Given the description of an element on the screen output the (x, y) to click on. 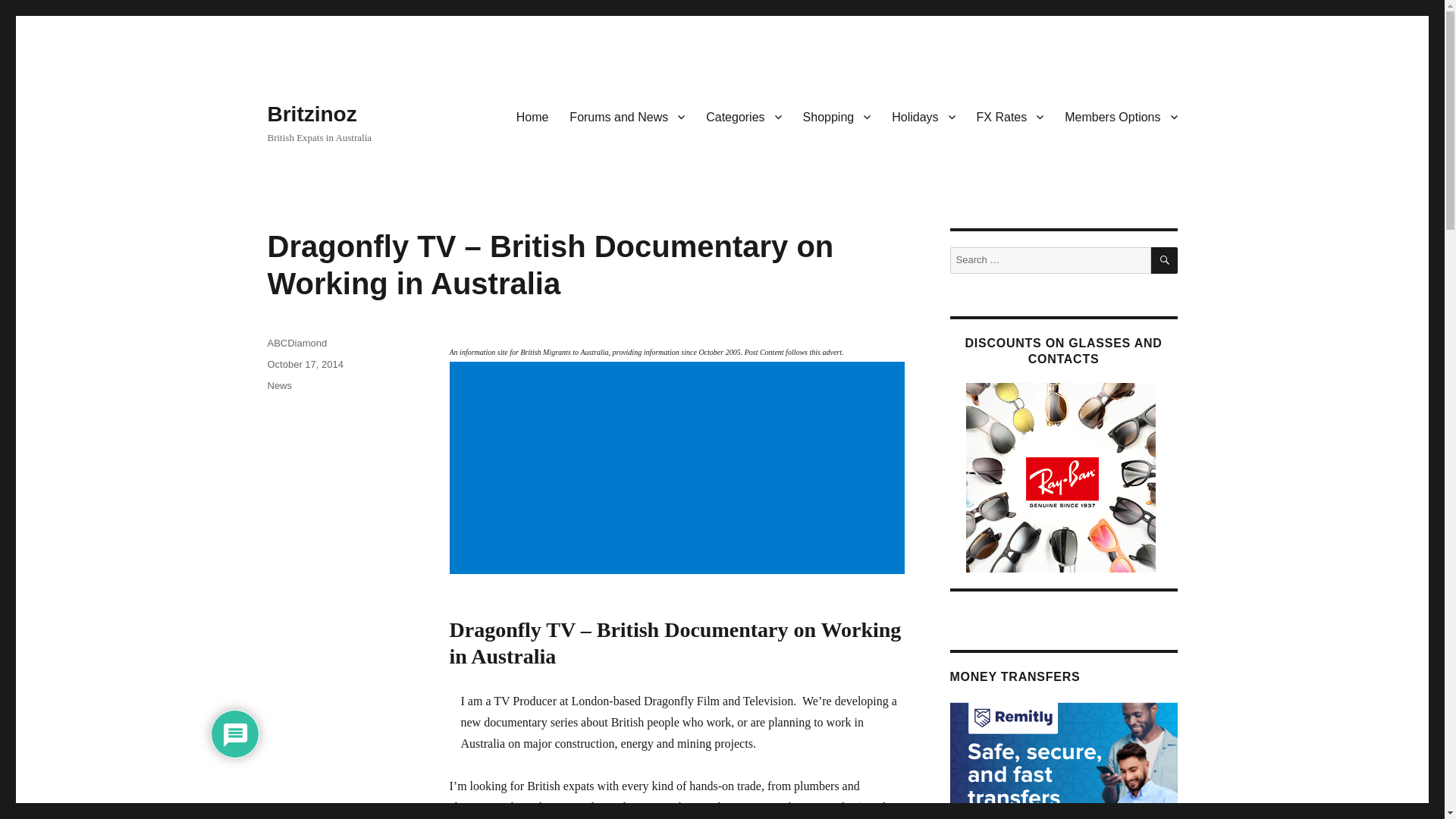
Forums and News (627, 116)
Categories (743, 116)
Advertisement (679, 469)
Britzinoz (311, 114)
Home (532, 116)
